Given the description of an element on the screen output the (x, y) to click on. 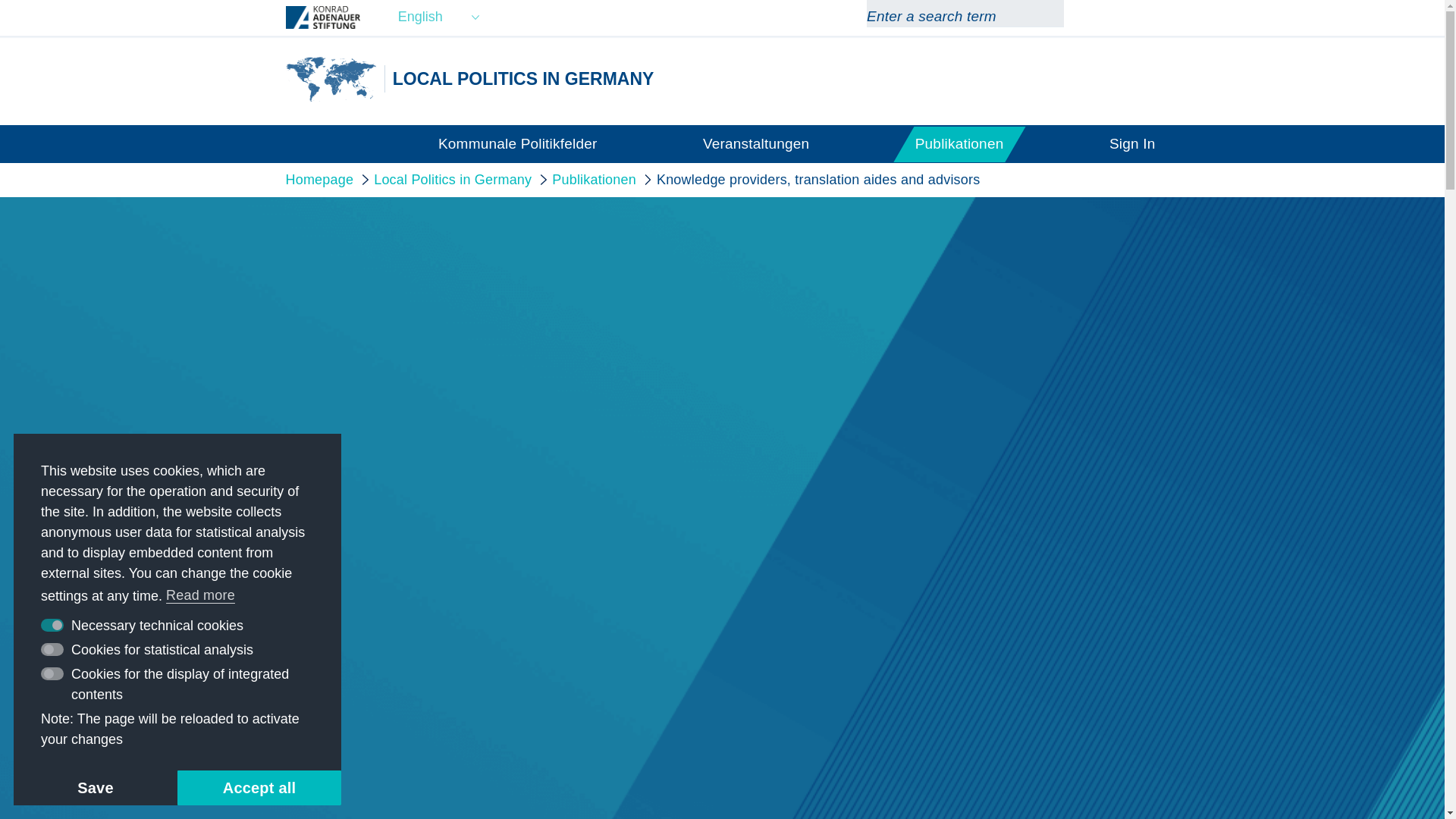
Read more (201, 595)
Youtube (1149, 16)
Accept all (258, 787)
Facebook (1122, 16)
Youtube (1149, 17)
Local Politics in Germany (330, 78)
Skip to Main Content (3, 3)
Save (95, 787)
Sign In (1132, 142)
Veranstaltungen (756, 142)
Kommunale Politikfelder (517, 142)
Publikationen (959, 142)
Facebook (1122, 17)
